Given the description of an element on the screen output the (x, y) to click on. 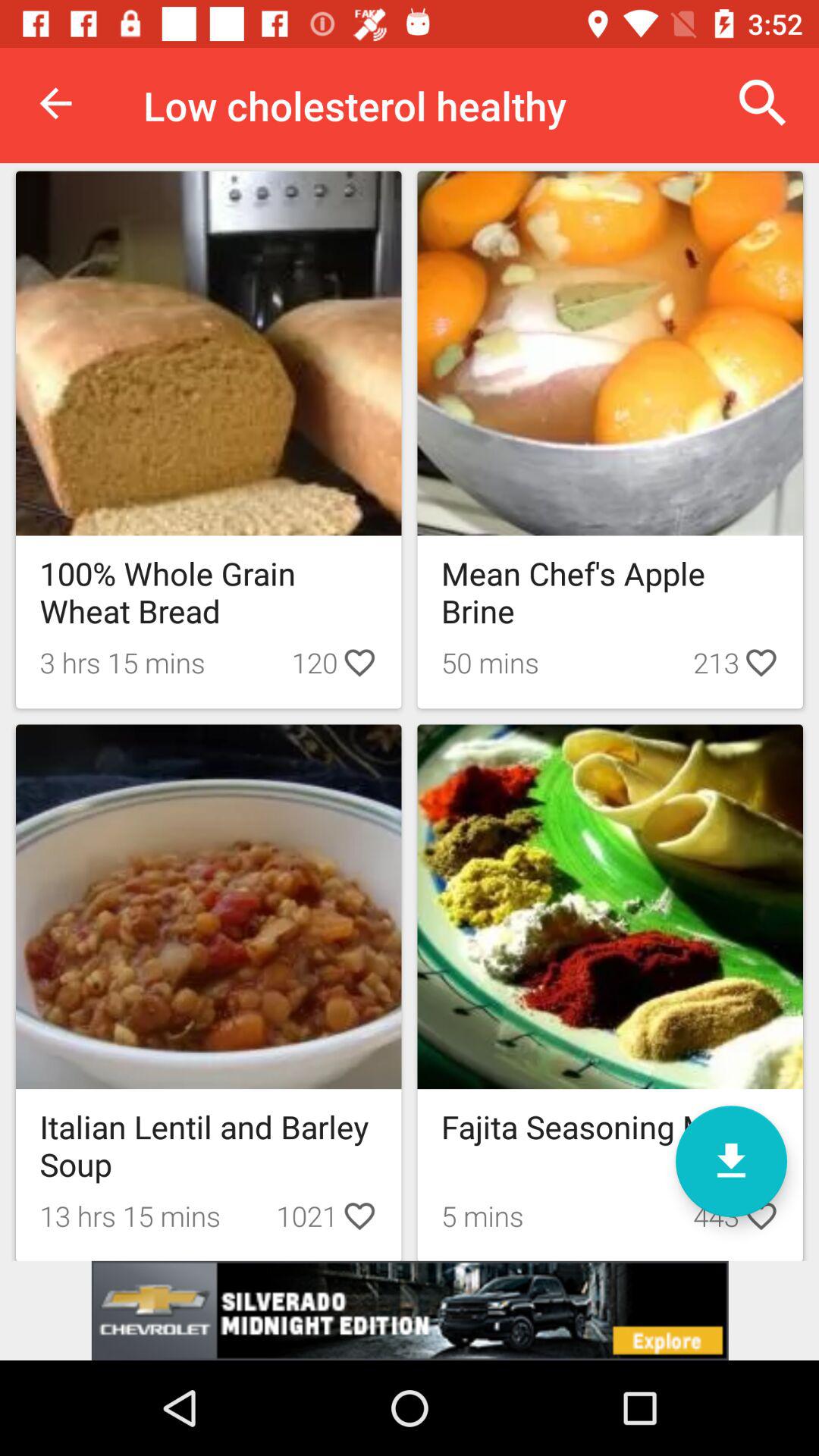
advertisement area (409, 1310)
